Given the description of an element on the screen output the (x, y) to click on. 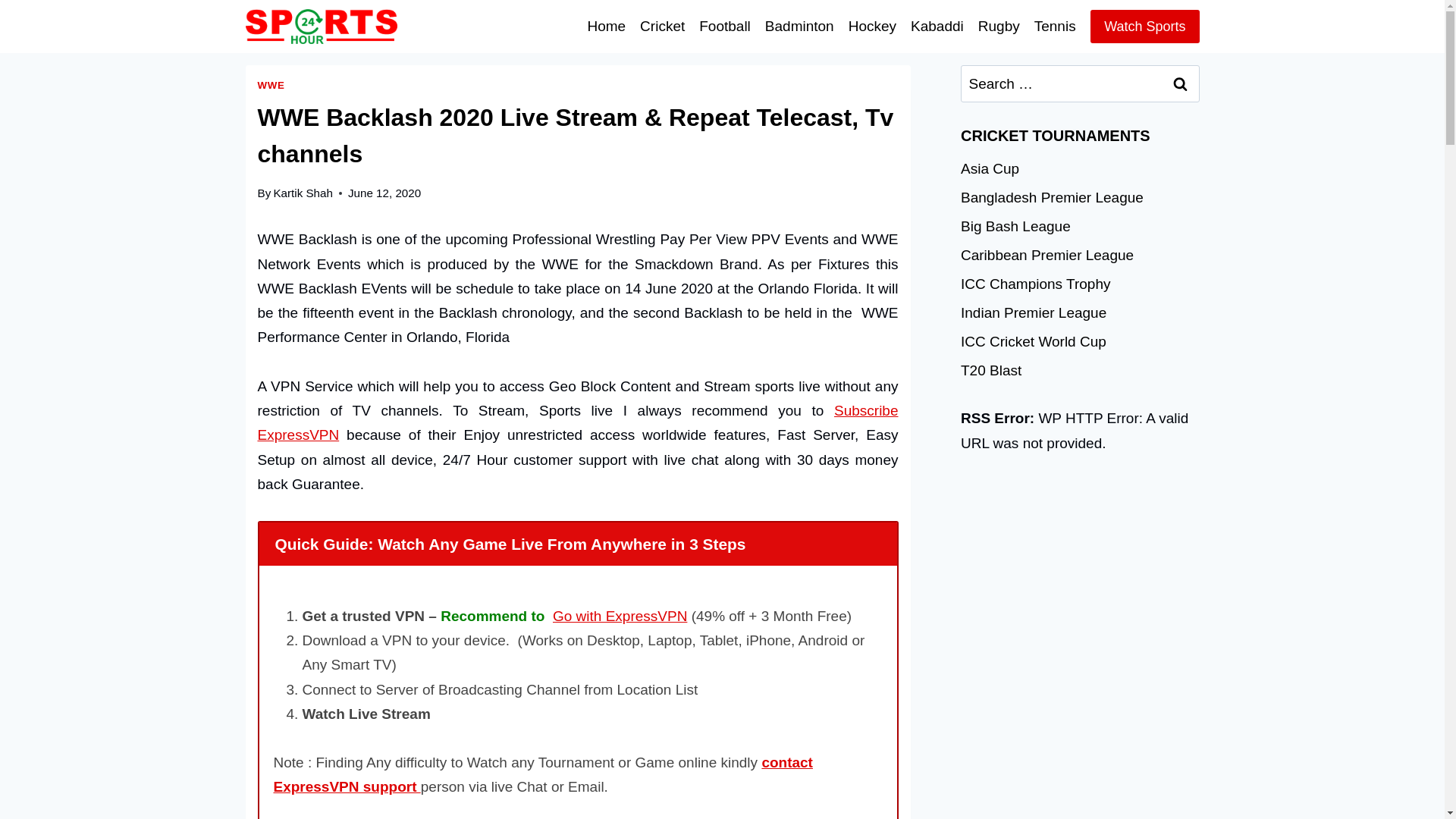
Watch Sports (1144, 25)
Cricket (663, 25)
Football (725, 25)
Hockey (871, 25)
Go with ExpressVPN (620, 616)
Search (1180, 83)
ExpressVPN Order (620, 616)
ExpressVPN (577, 422)
Kartik Shah (303, 192)
expressvpn sports (1144, 25)
Home (606, 25)
WWE (271, 84)
ExpressVPN Support (542, 774)
Tennis (1054, 25)
contact ExpressVPN support (542, 774)
